Given the description of an element on the screen output the (x, y) to click on. 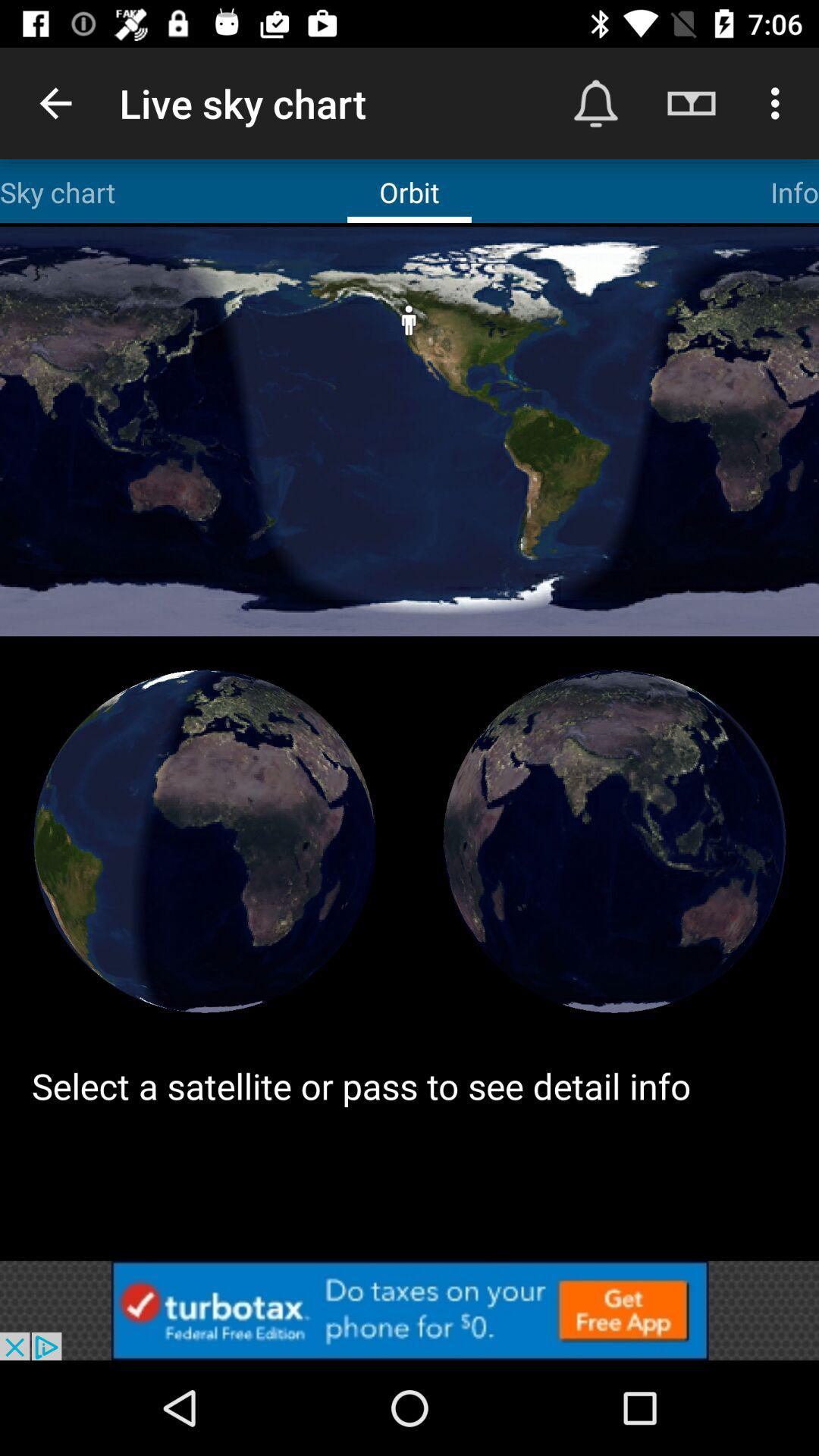
open advertisement (409, 1310)
